Given the description of an element on the screen output the (x, y) to click on. 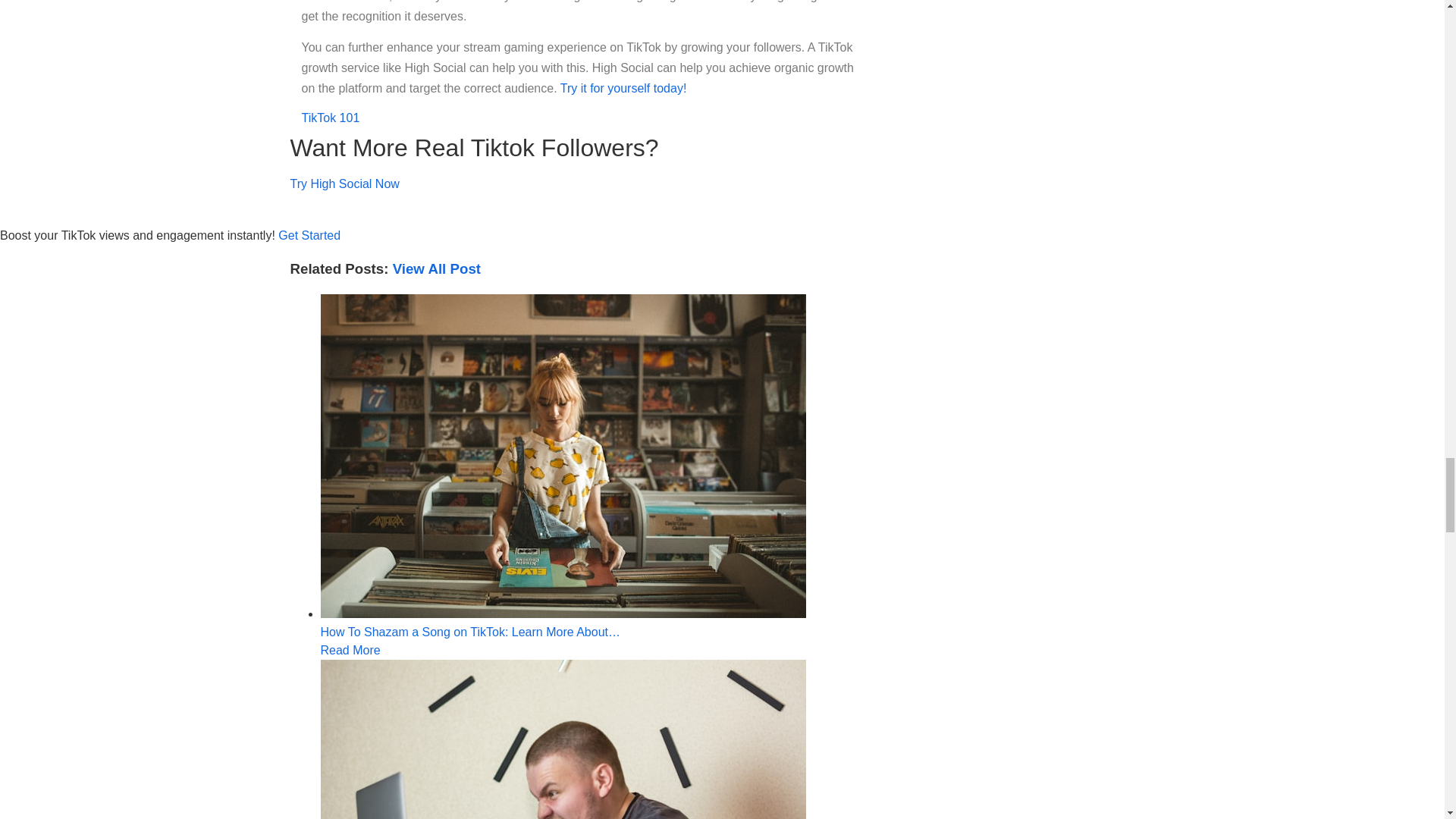
TikTok 101 (562, 739)
Try it for yourself today! (330, 117)
View All Post (623, 88)
Try High Social Now (436, 268)
Get Started (343, 183)
